Given the description of an element on the screen output the (x, y) to click on. 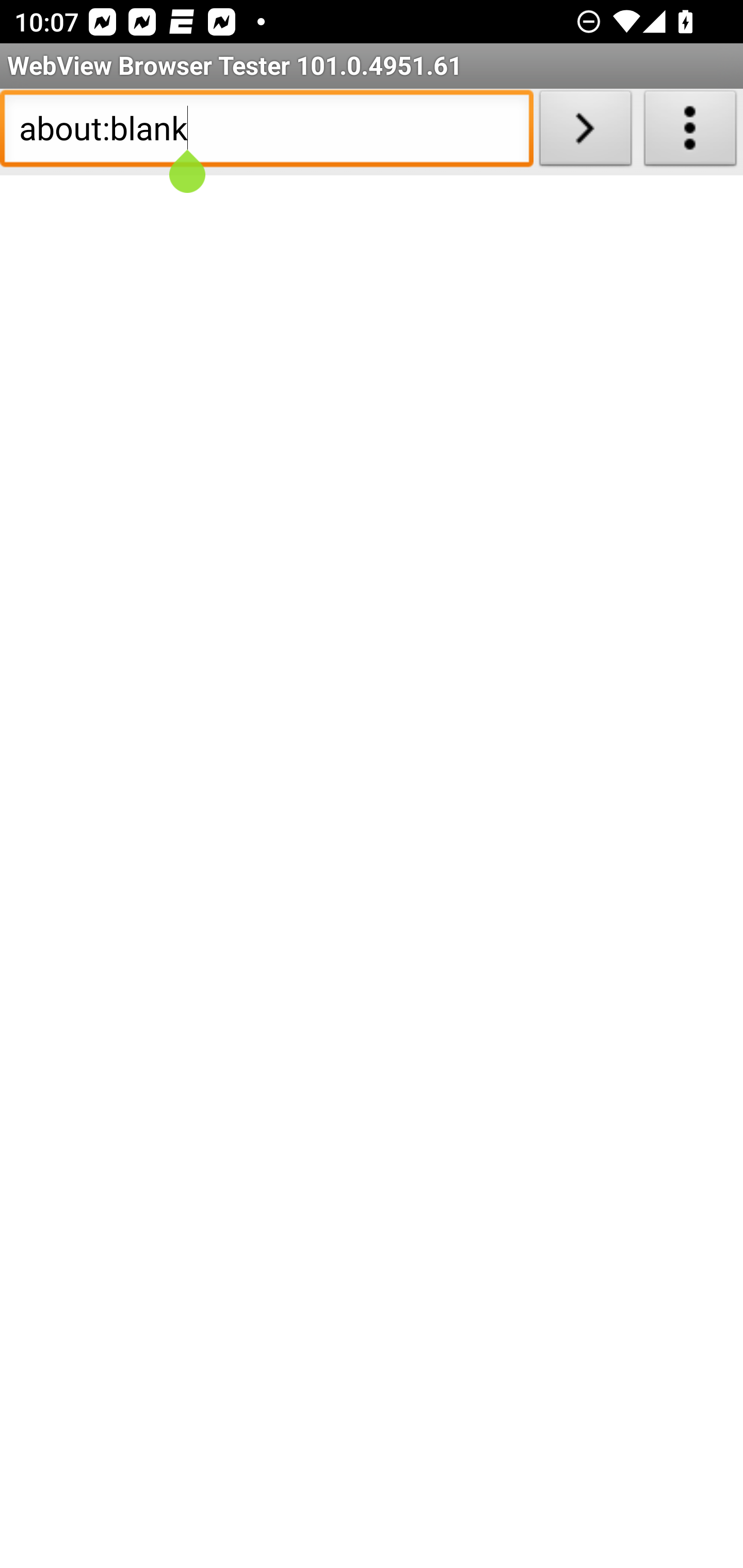
about:blank (266, 132)
Load URL (585, 132)
About WebView (690, 132)
